Given the description of an element on the screen output the (x, y) to click on. 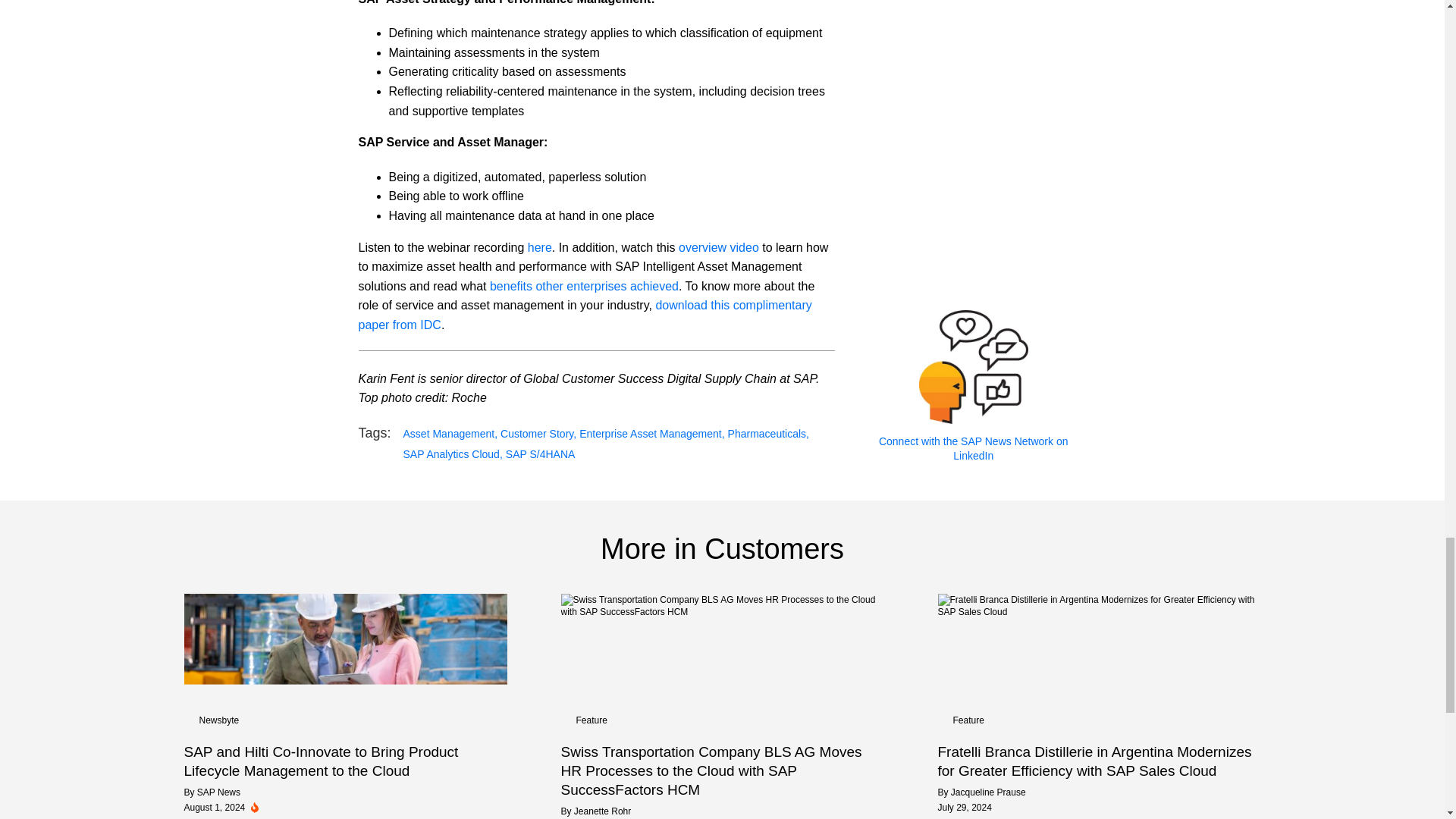
SAP News (218, 792)
benefits other enterprises achieved (583, 286)
Posts by Jeanette Rohr (601, 810)
Jacqueline Prause (988, 792)
overview video (718, 246)
Pharmaceuticals (768, 434)
Feature (968, 719)
Posts by Jacqueline Prause (988, 792)
Newsbyte (218, 719)
Jeanette Rohr (601, 810)
